Given the description of an element on the screen output the (x, y) to click on. 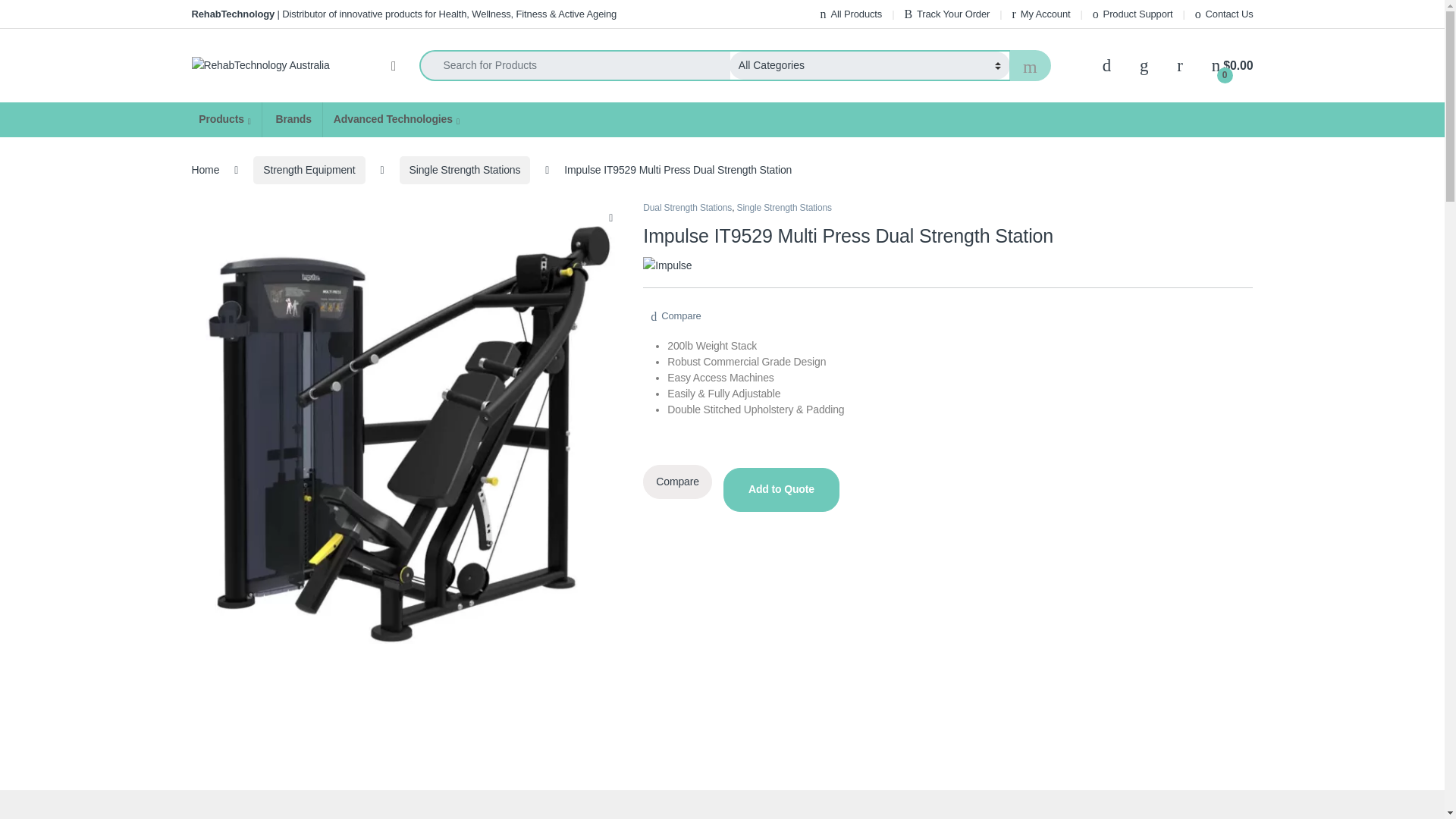
All Products (851, 13)
Product Support (1133, 13)
Contact Us (1224, 13)
My Account (1040, 13)
Product Support (1133, 13)
Track Your Order (947, 13)
Contact Us (1224, 13)
My Account (1040, 13)
All Products (851, 13)
Track Your Order (947, 13)
